Given the description of an element on the screen output the (x, y) to click on. 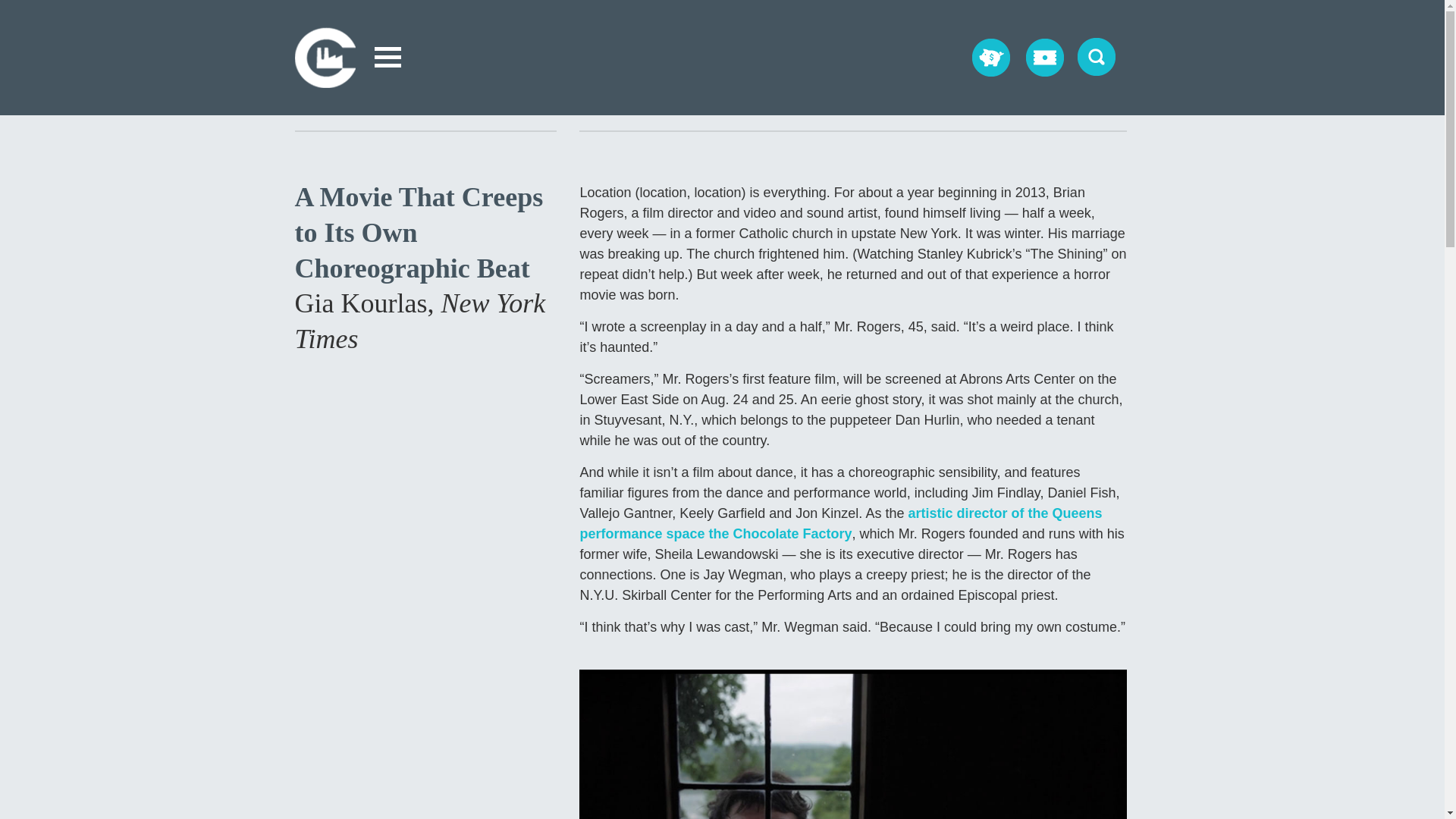
A Movie That Creeps to Its Own Choreographic Beat (418, 232)
